Given the description of an element on the screen output the (x, y) to click on. 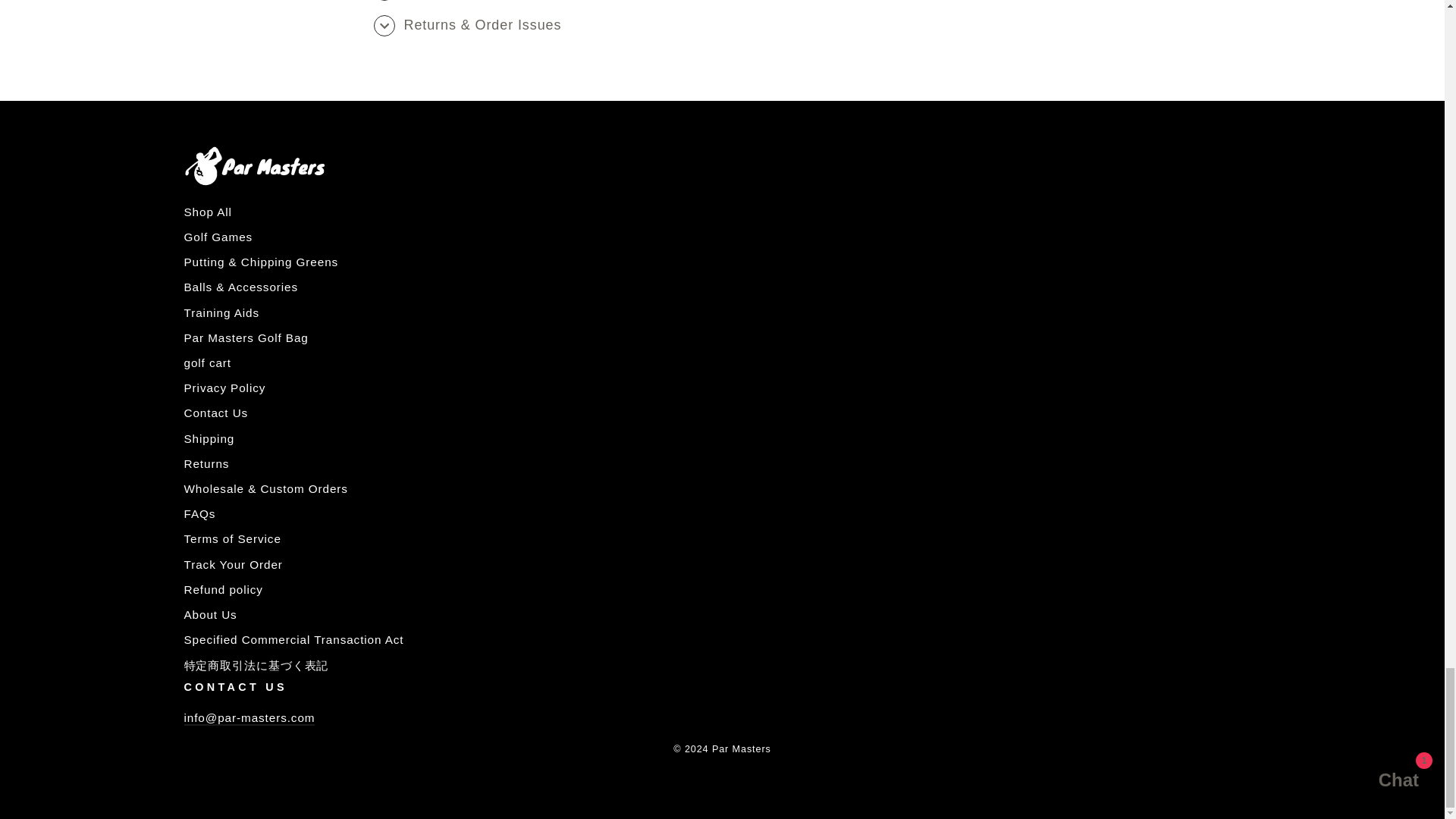
Contact Us (248, 718)
